Given the description of an element on the screen output the (x, y) to click on. 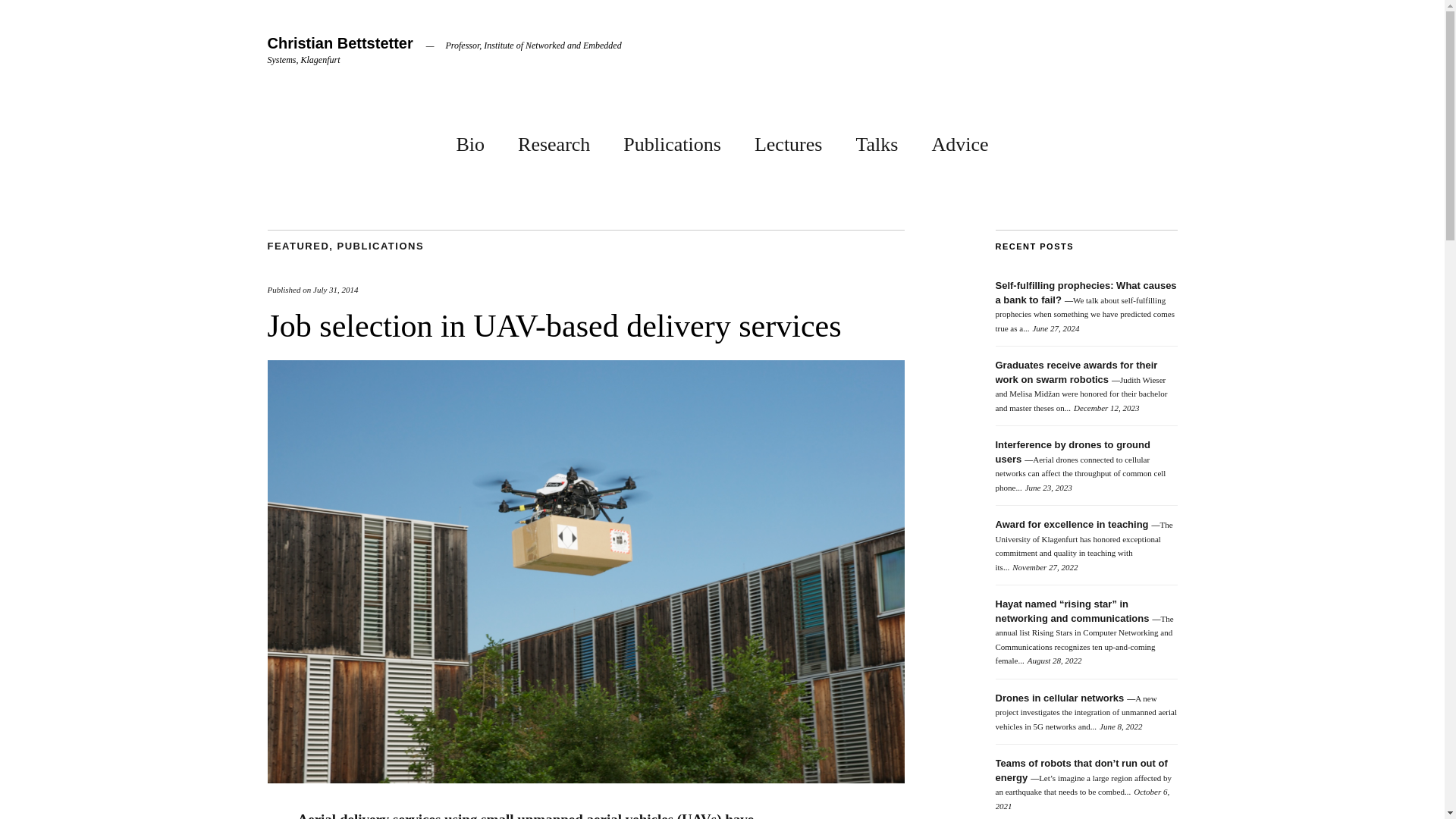
July 31, 2014 (335, 289)
Lectures (788, 140)
Talks (877, 140)
Publications (671, 140)
PUBLICATIONS (381, 245)
Research (553, 140)
Advice (959, 140)
Christian Bettstetter (339, 43)
FEATURED (297, 245)
Permalink to Job selection in UAV-based delivery services (585, 779)
